Given the description of an element on the screen output the (x, y) to click on. 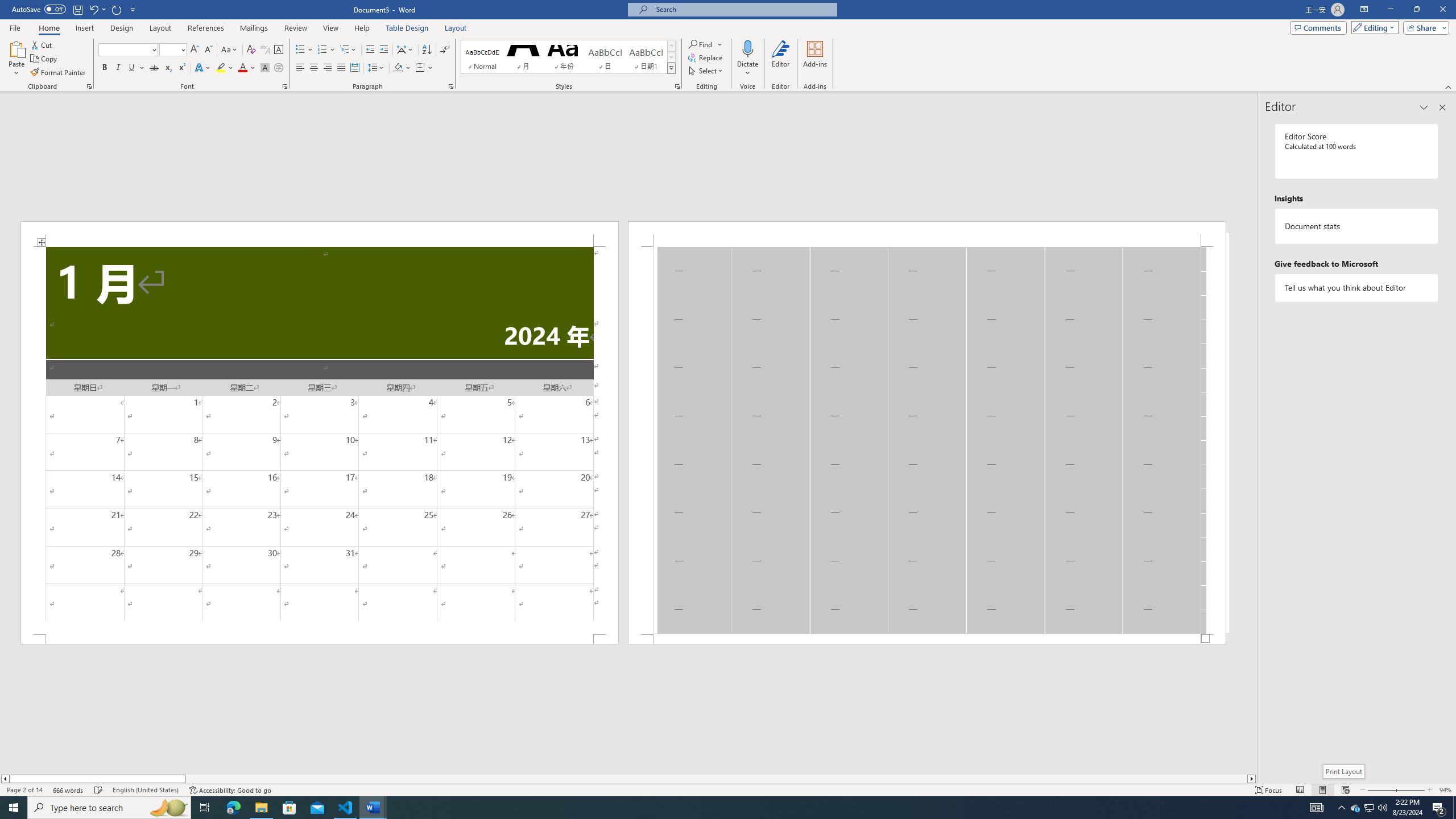
Show/Hide Editing Marks (444, 49)
Column right (1251, 778)
Select (705, 69)
Text Highlight Color (224, 67)
Undo Apply Quick Style (92, 9)
